Given the description of an element on the screen output the (x, y) to click on. 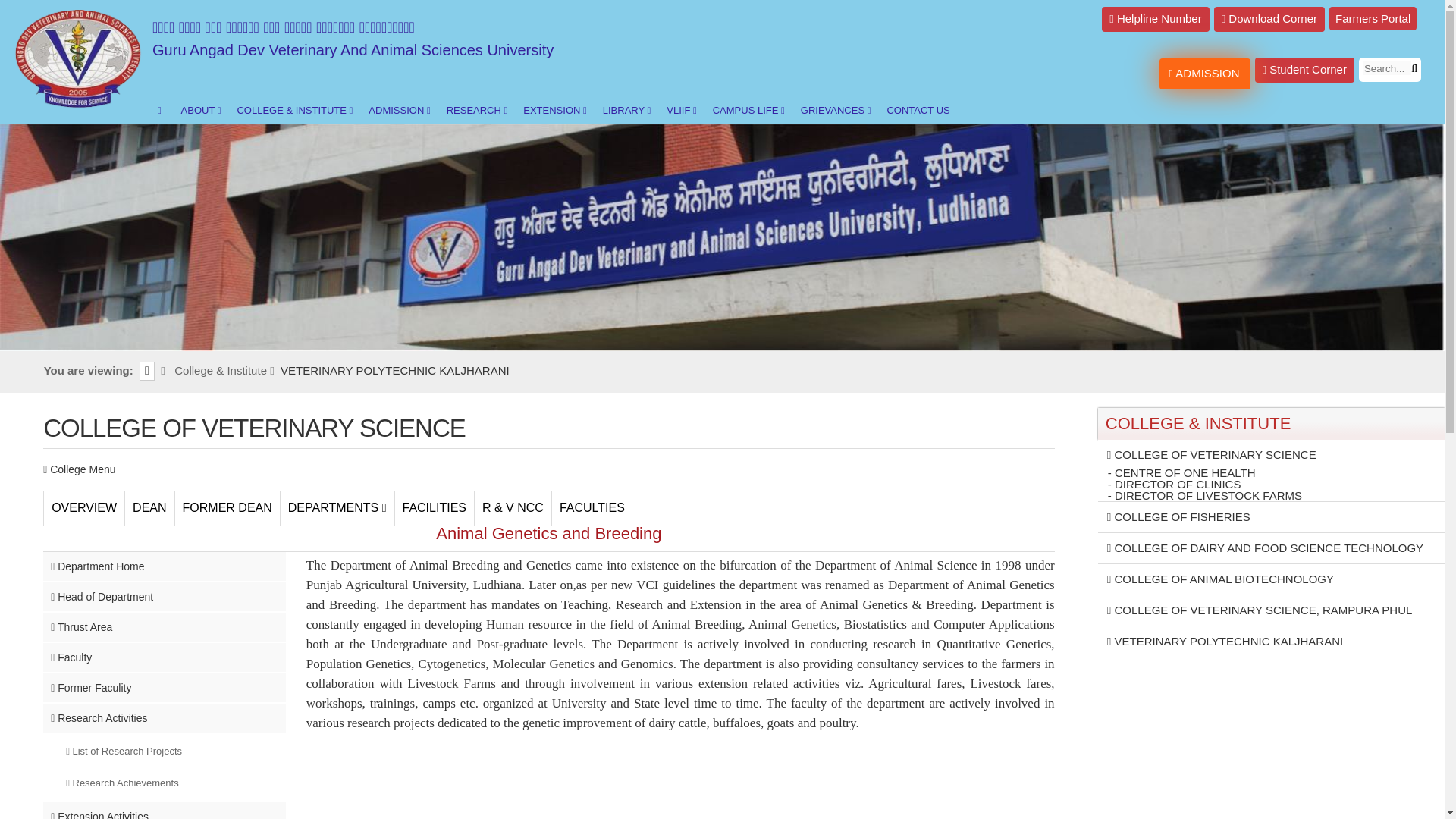
Helpline Number (1155, 18)
ABOUT (198, 110)
Download Corner (1269, 18)
Farmers Portal (1372, 18)
 ADMISSION (1203, 73)
Student Corner (1304, 69)
